Given the description of an element on the screen output the (x, y) to click on. 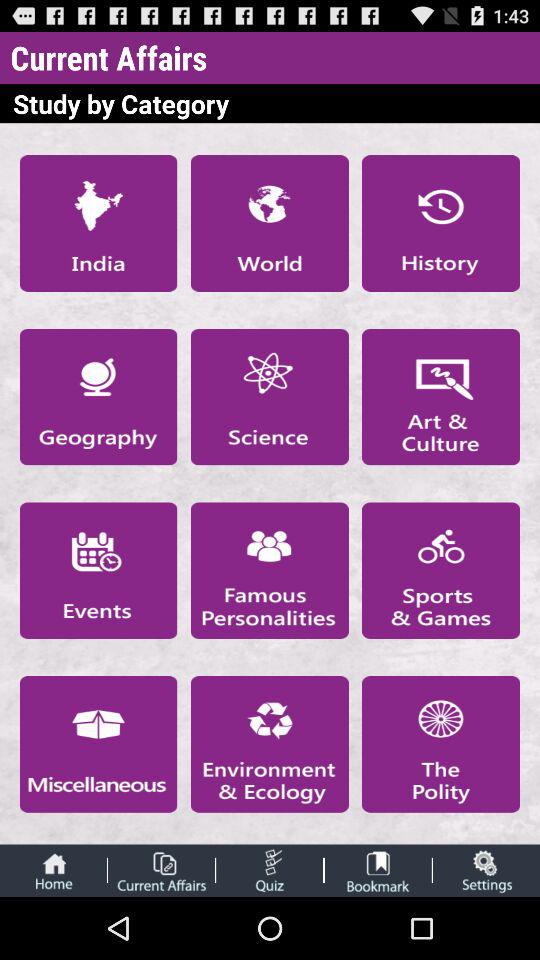
geography (98, 396)
